Given the description of an element on the screen output the (x, y) to click on. 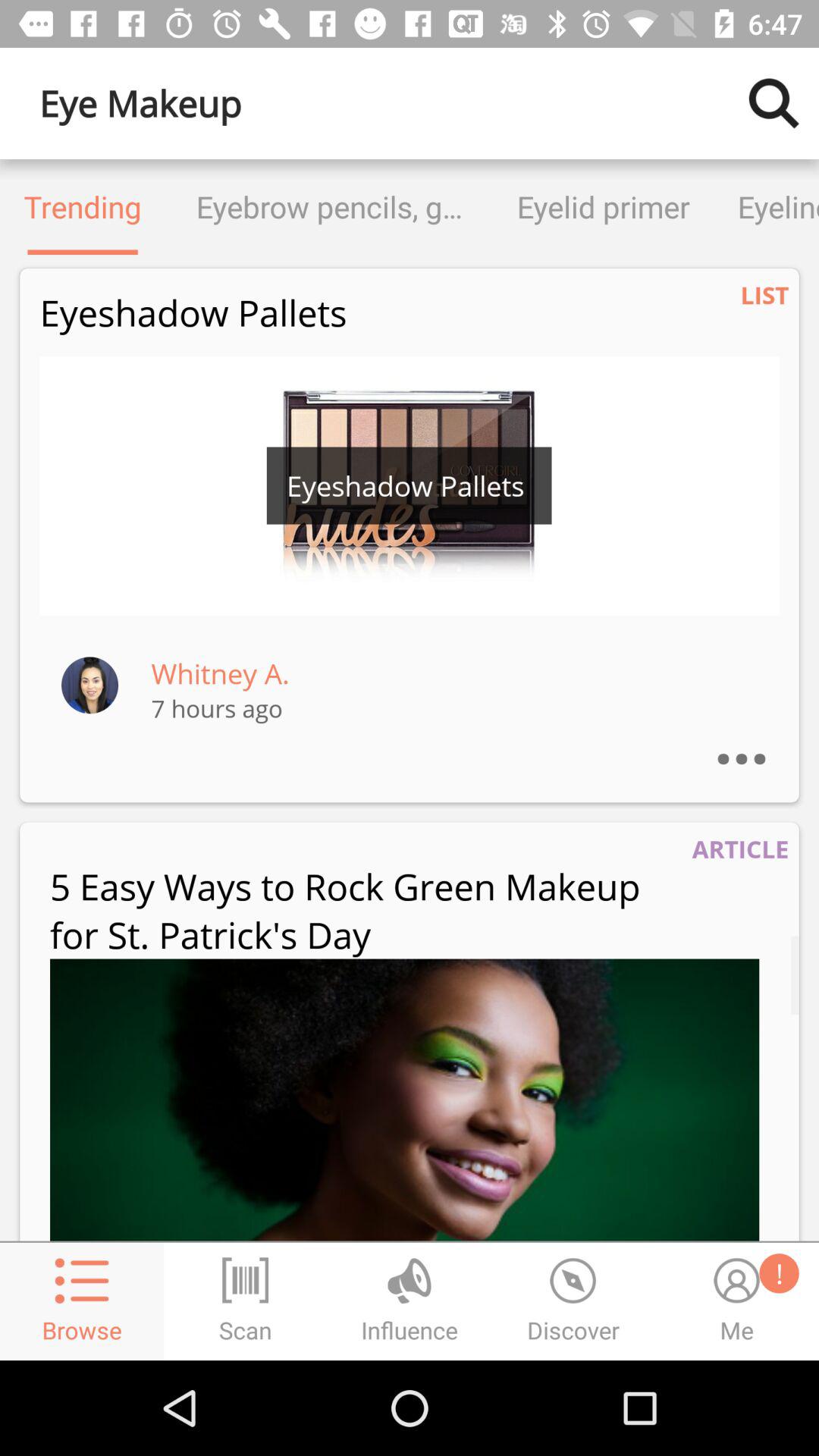
turn on icon above the list (766, 206)
